Given the description of an element on the screen output the (x, y) to click on. 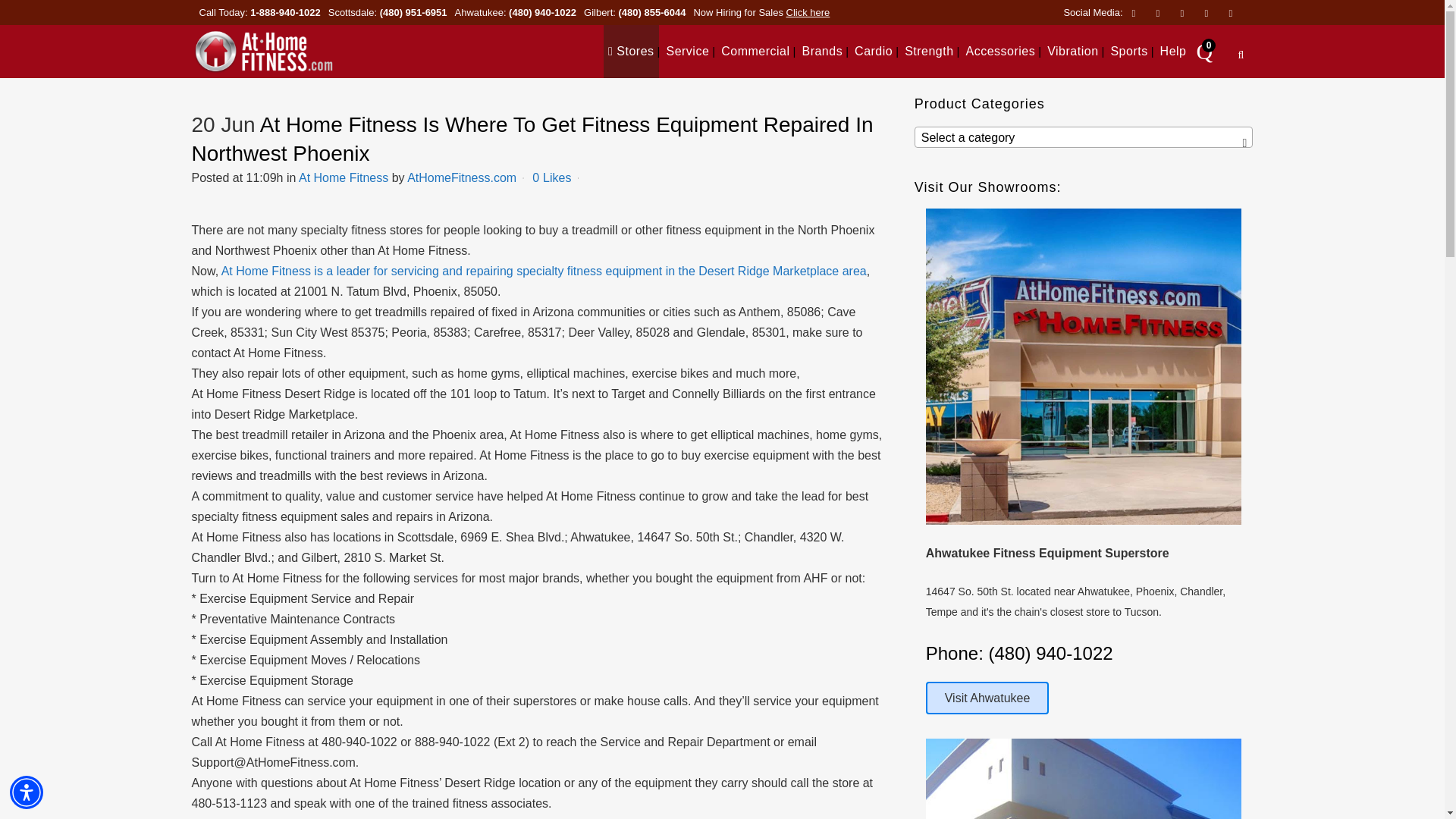
Commercial (754, 51)
Stores (631, 51)
Brands (821, 51)
Accessibility Menu (26, 792)
Click here (807, 12)
Service (687, 51)
Like this (551, 177)
